Given the description of an element on the screen output the (x, y) to click on. 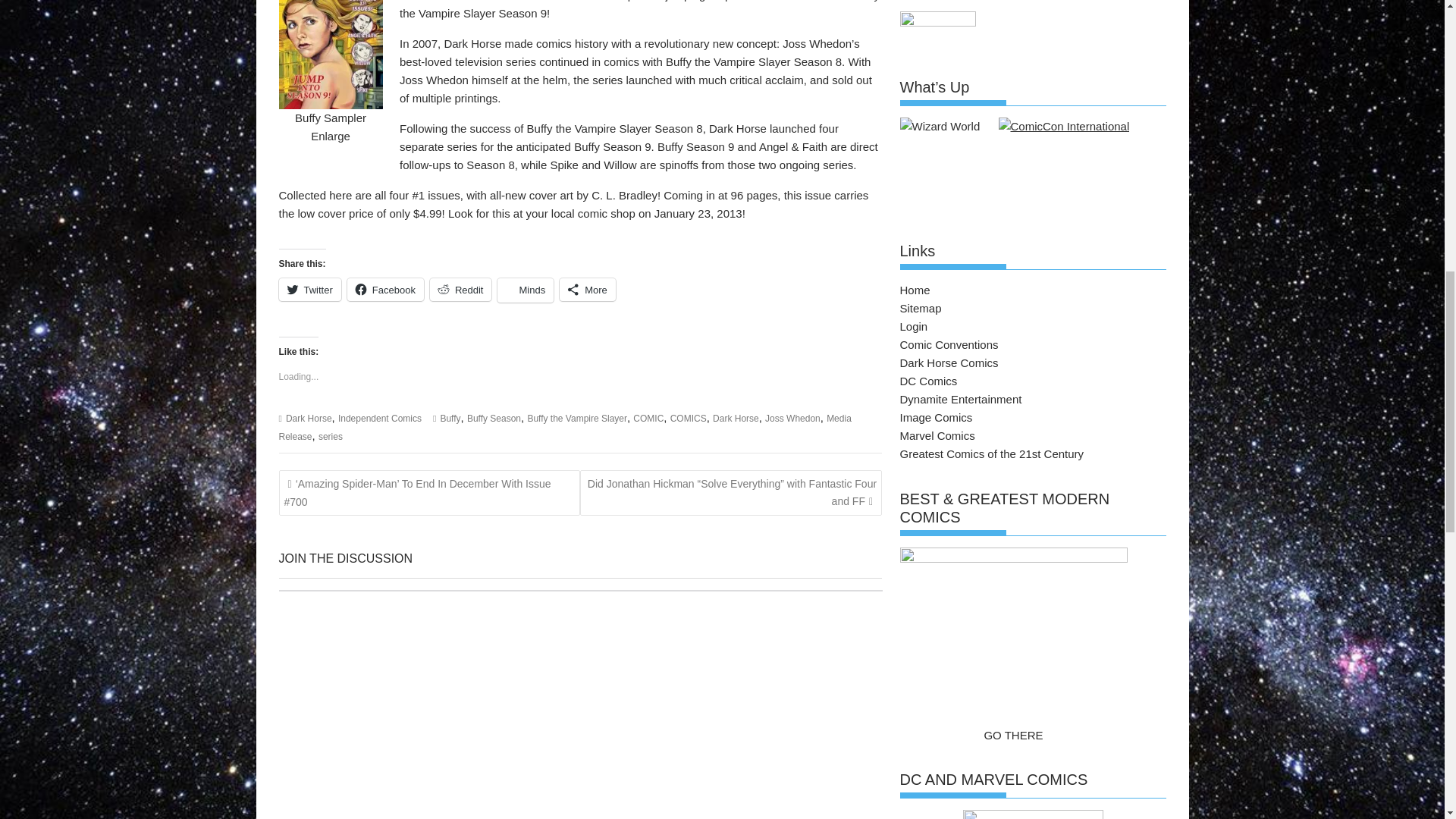
Click to share on Twitter (309, 289)
Buffy the Vampire Slayer (577, 418)
More (587, 289)
Twitter (309, 289)
Click to share on Reddit (460, 289)
Independent Comics (379, 418)
Click to share on Facebook (385, 289)
Minds (525, 290)
Facebook (385, 289)
COMIC (648, 418)
COMICS (687, 418)
Buffy Season (494, 418)
Click to share on Minds (525, 290)
Reddit (460, 289)
